Given the description of an element on the screen output the (x, y) to click on. 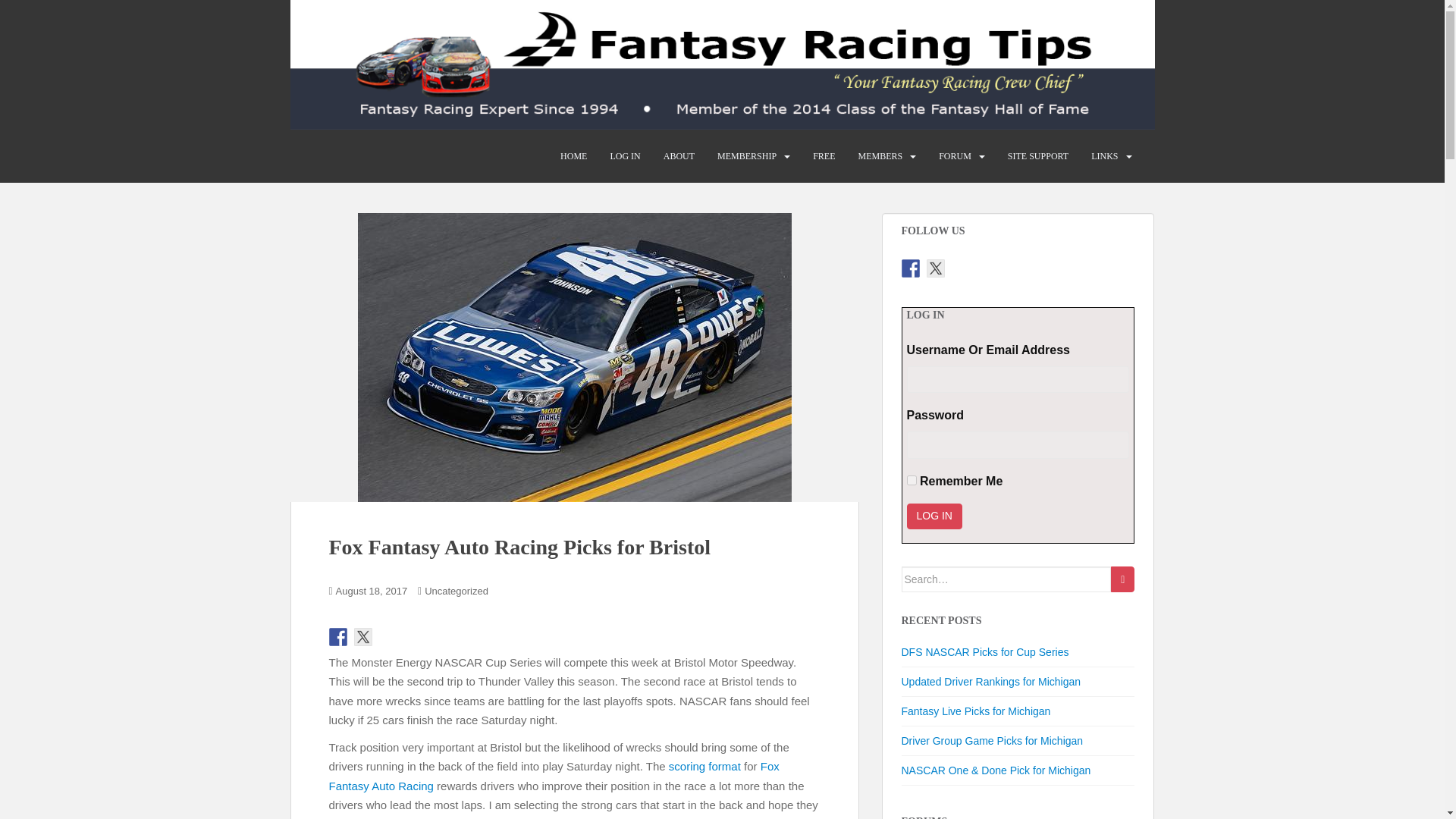
Uncategorized (456, 591)
ABOUT (678, 155)
MEMBERS (879, 155)
Follow us on Twitter (935, 268)
FORUM (955, 155)
forever (912, 480)
Follow us on Twitter (362, 637)
SITE SUPPORT (1037, 155)
LOG IN (625, 155)
August 18, 2017 (371, 591)
